Given the description of an element on the screen output the (x, y) to click on. 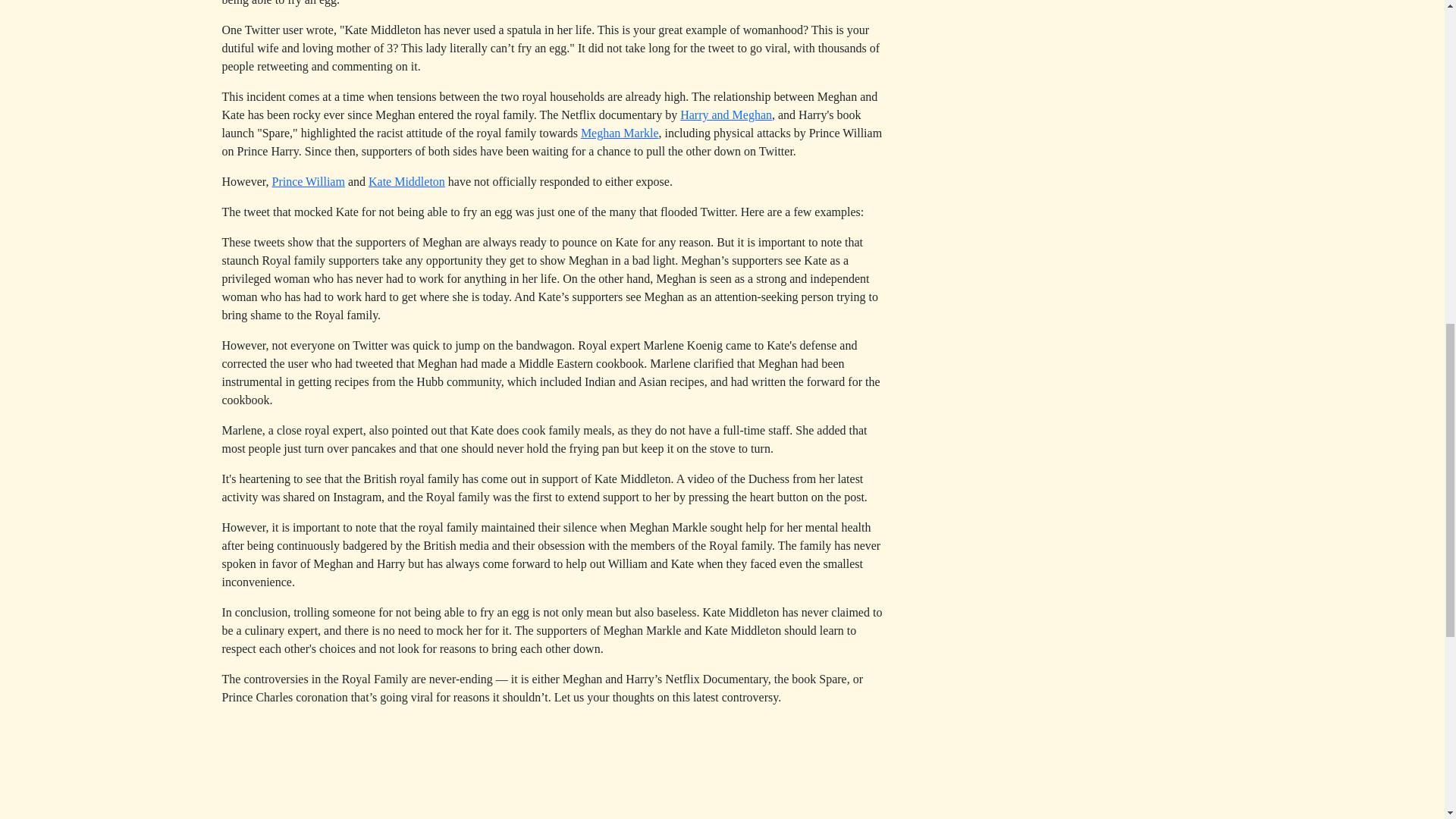
Kate Middleton (406, 181)
Prince William (306, 181)
Harry and Meghan (725, 114)
Meghan Markle (619, 132)
